Given the description of an element on the screen output the (x, y) to click on. 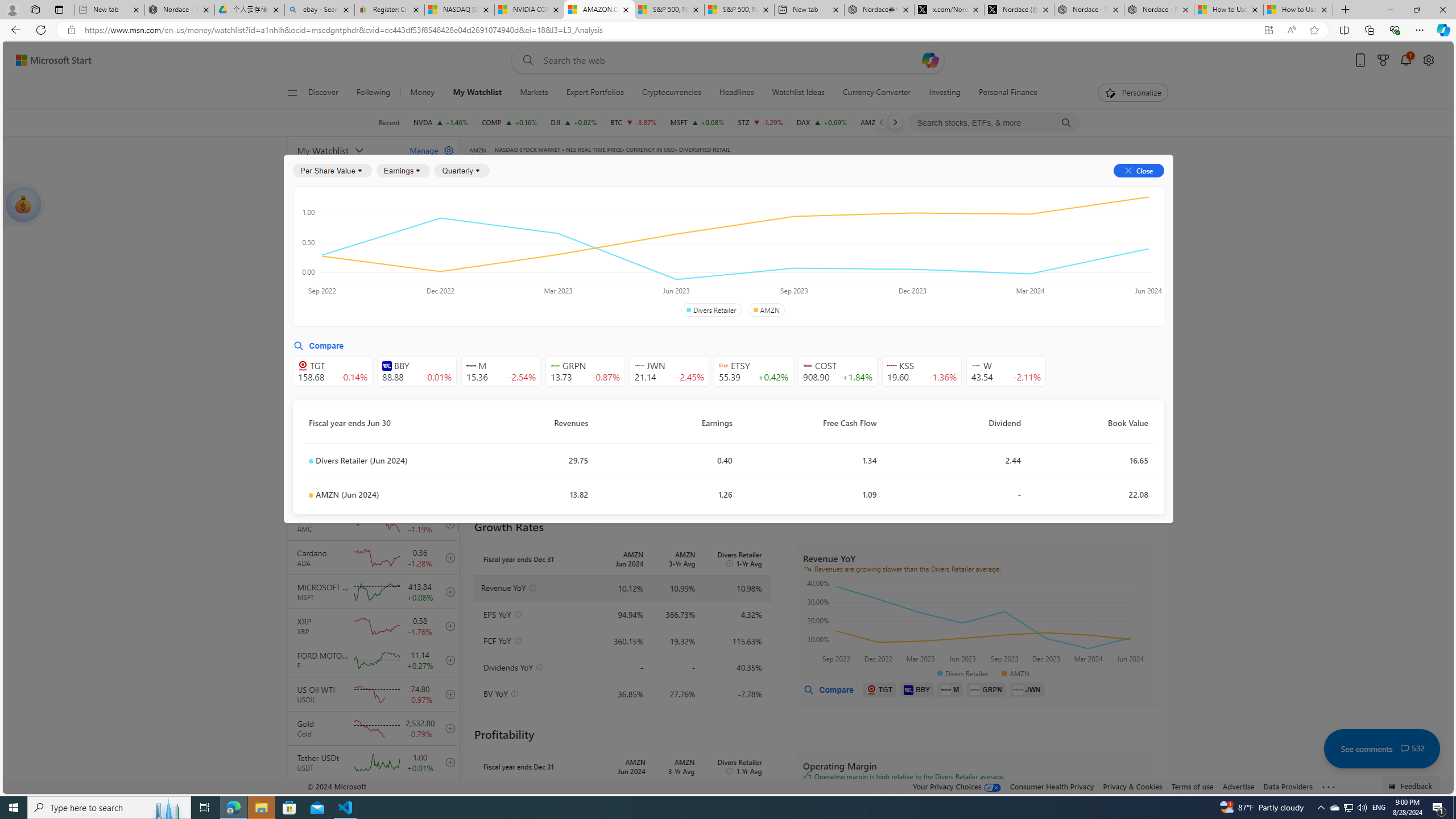
Watchlist (654, 166)
NVDA NVIDIA CORPORATION increase 128.30 +1.84 +1.46% (441, 122)
New tab - Sleeping (109, 9)
Currency Converter (877, 92)
x.com/NordaceOfficial (949, 9)
Privacy & Cookies (1131, 786)
